Given the description of an element on the screen output the (x, y) to click on. 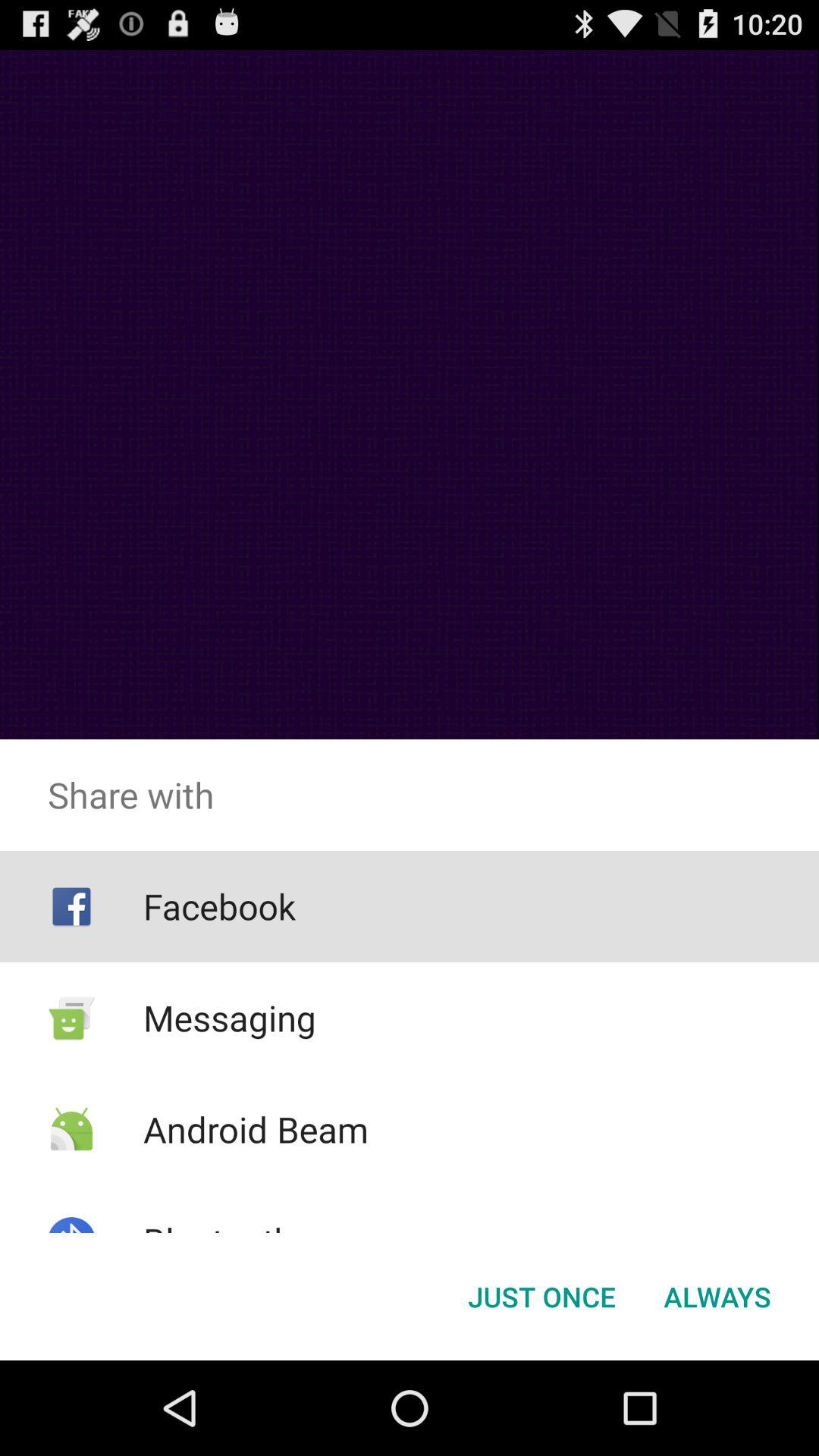
launch the app below android beam icon (218, 1240)
